Given the description of an element on the screen output the (x, y) to click on. 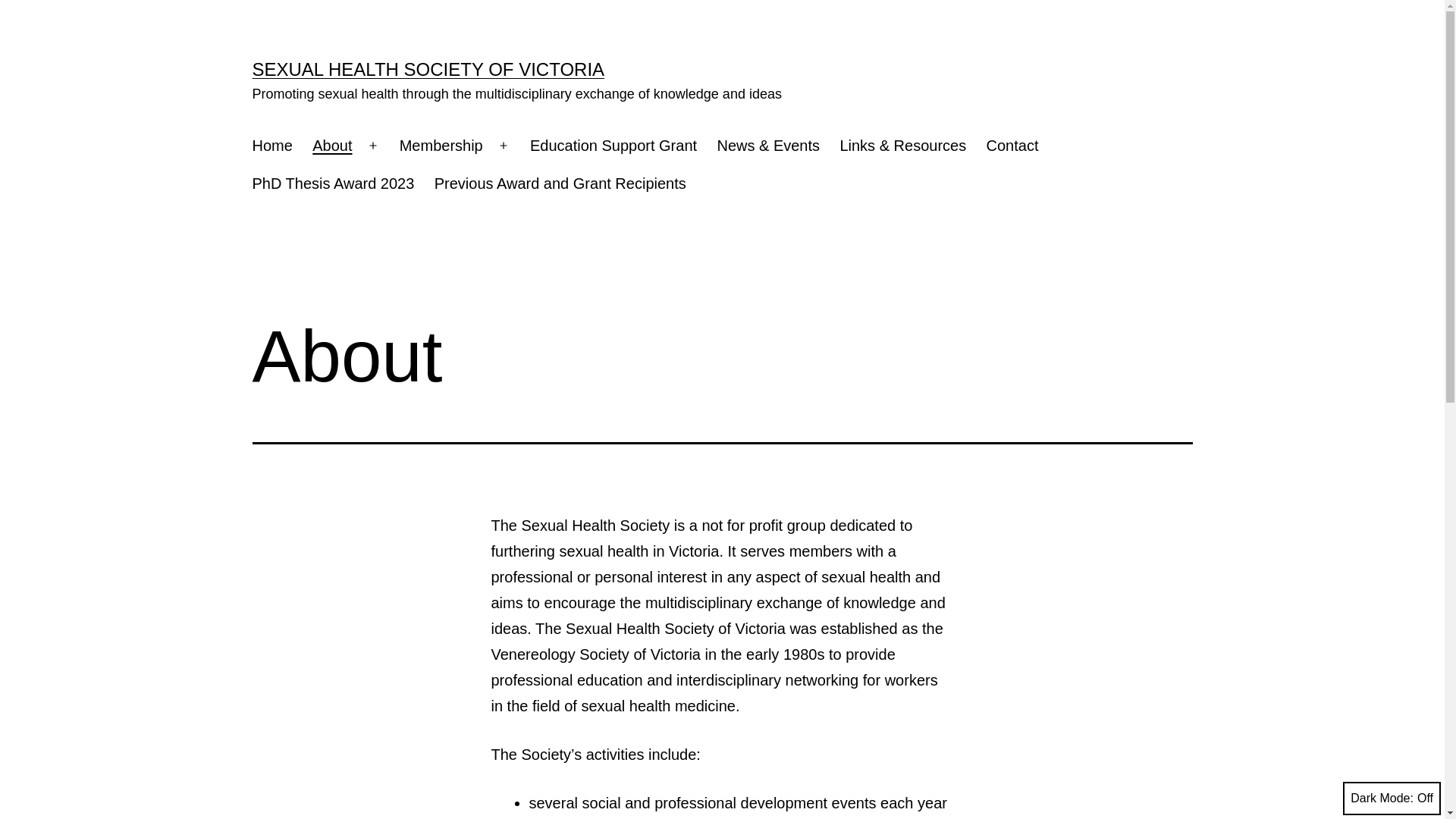
Education Support Grant Element type: text (613, 145)
Membership Element type: text (440, 145)
About Element type: text (332, 145)
Contact Element type: text (1011, 145)
Dark Mode: Element type: text (1391, 798)
PhD Thesis Award 2023 Element type: text (332, 183)
Previous Award and Grant Recipients Element type: text (560, 183)
News & Events Element type: text (767, 145)
Home Element type: text (271, 145)
Open menu Element type: text (503, 145)
Links & Resources Element type: text (902, 145)
SEXUAL HEALTH SOCIETY OF VICTORIA Element type: text (427, 69)
Open menu Element type: text (372, 145)
